Given the description of an element on the screen output the (x, y) to click on. 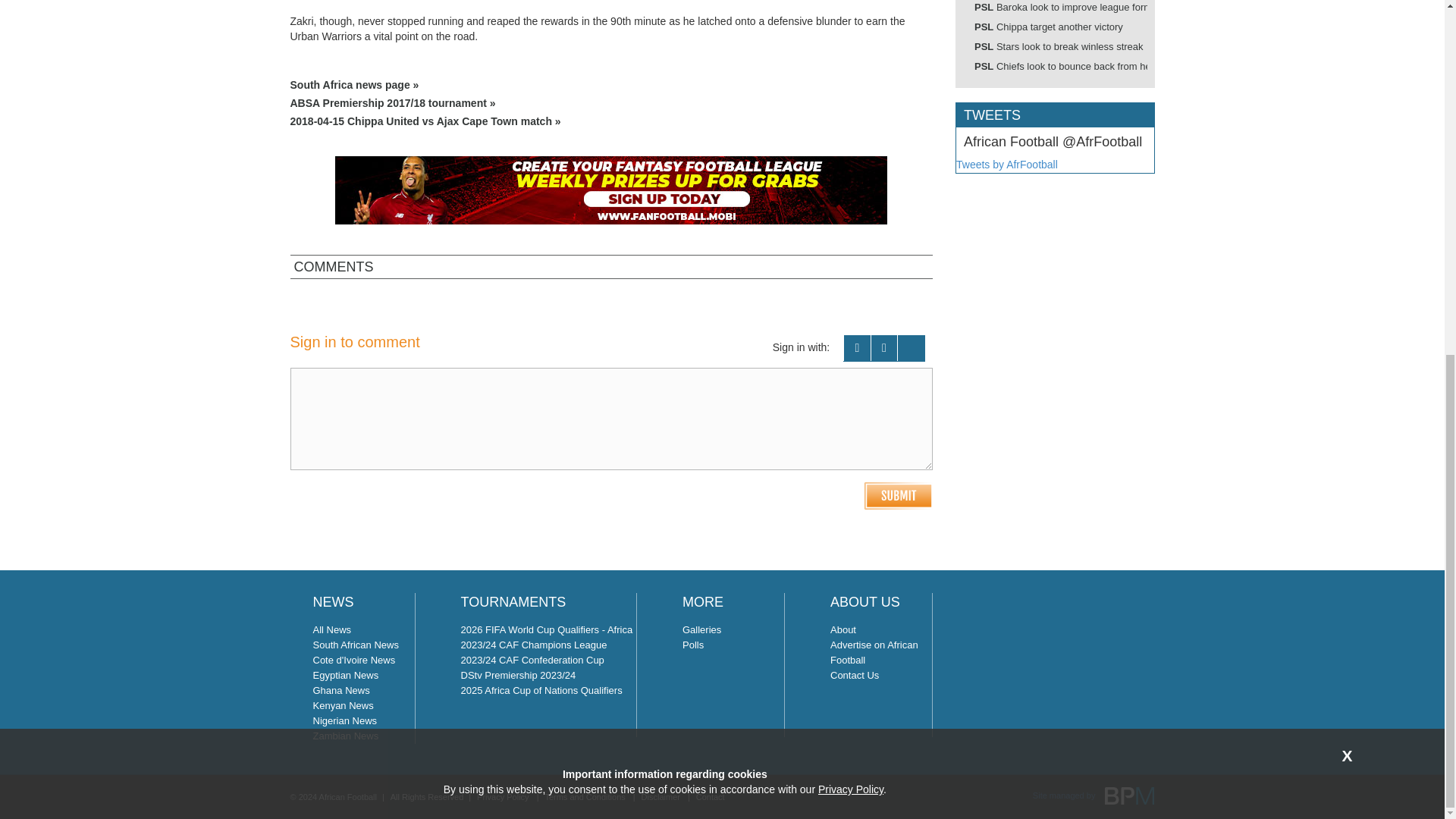
Sign in with your Twitter details (884, 347)
2018-04-15 Chippa United vs Ajax Cape Town match (611, 121)
South Africa news page (611, 84)
Sign in with your Facebook details (856, 347)
